Given the description of an element on the screen output the (x, y) to click on. 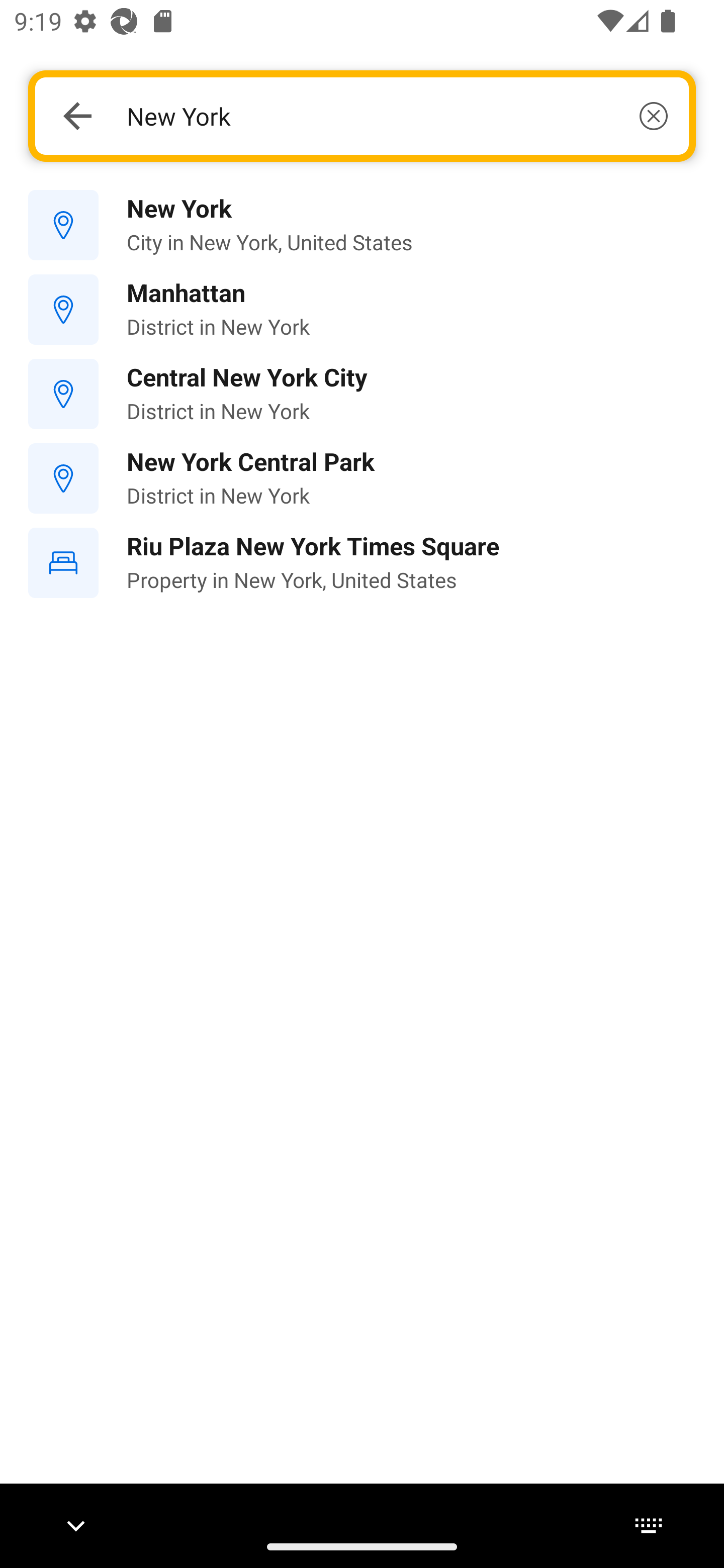
New York (396, 115)
New York City in New York, United States (362, 225)
Manhattan District in New York (362, 309)
Central New York City District in New York (362, 393)
New York Central Park District in New York (362, 477)
